Given the description of an element on the screen output the (x, y) to click on. 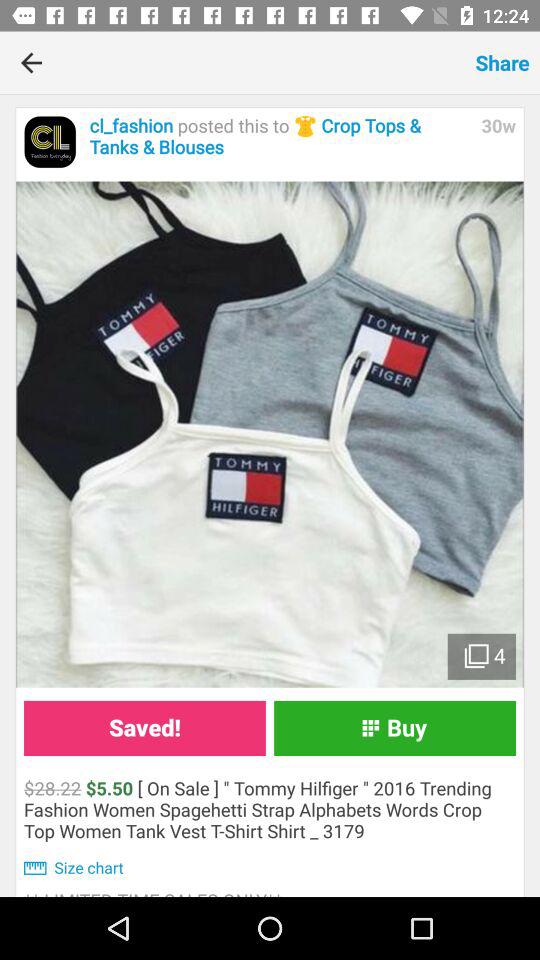
click item next to the 30w (280, 136)
